Given the description of an element on the screen output the (x, y) to click on. 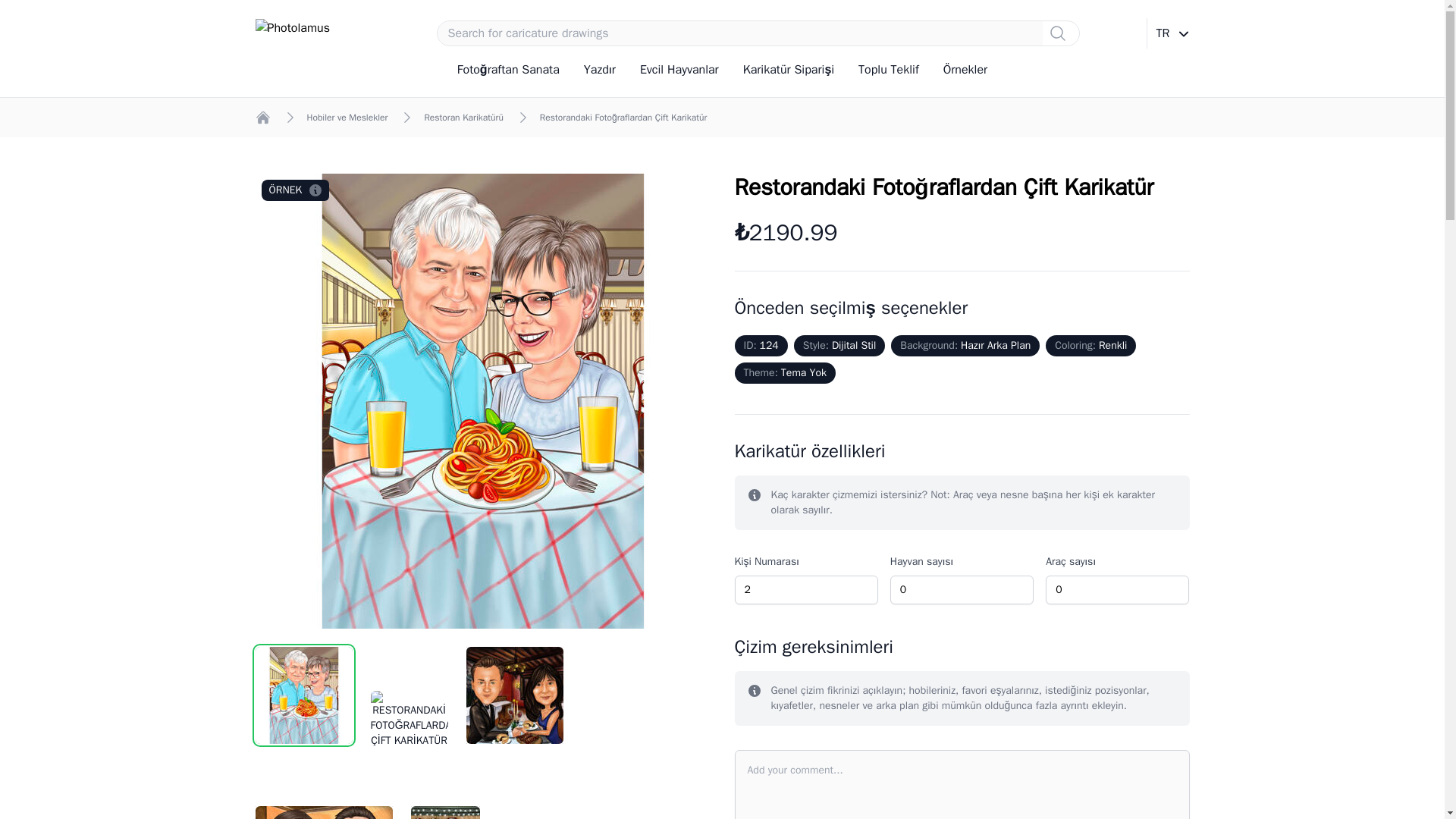
TR (1168, 33)
0 (961, 589)
0 (1117, 589)
2 (805, 589)
